Given the description of an element on the screen output the (x, y) to click on. 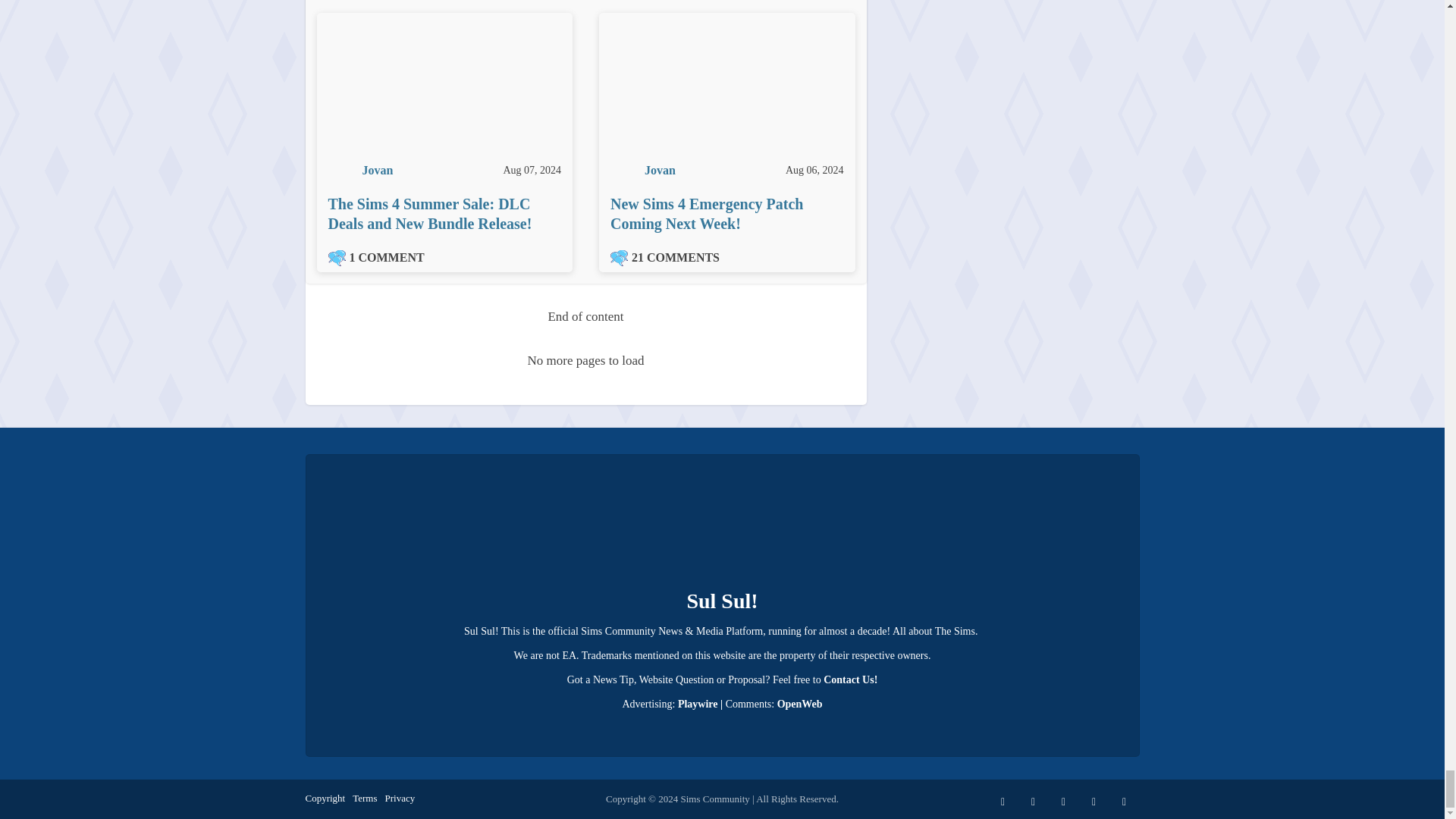
No more pages to load (586, 360)
